Given the description of an element on the screen output the (x, y) to click on. 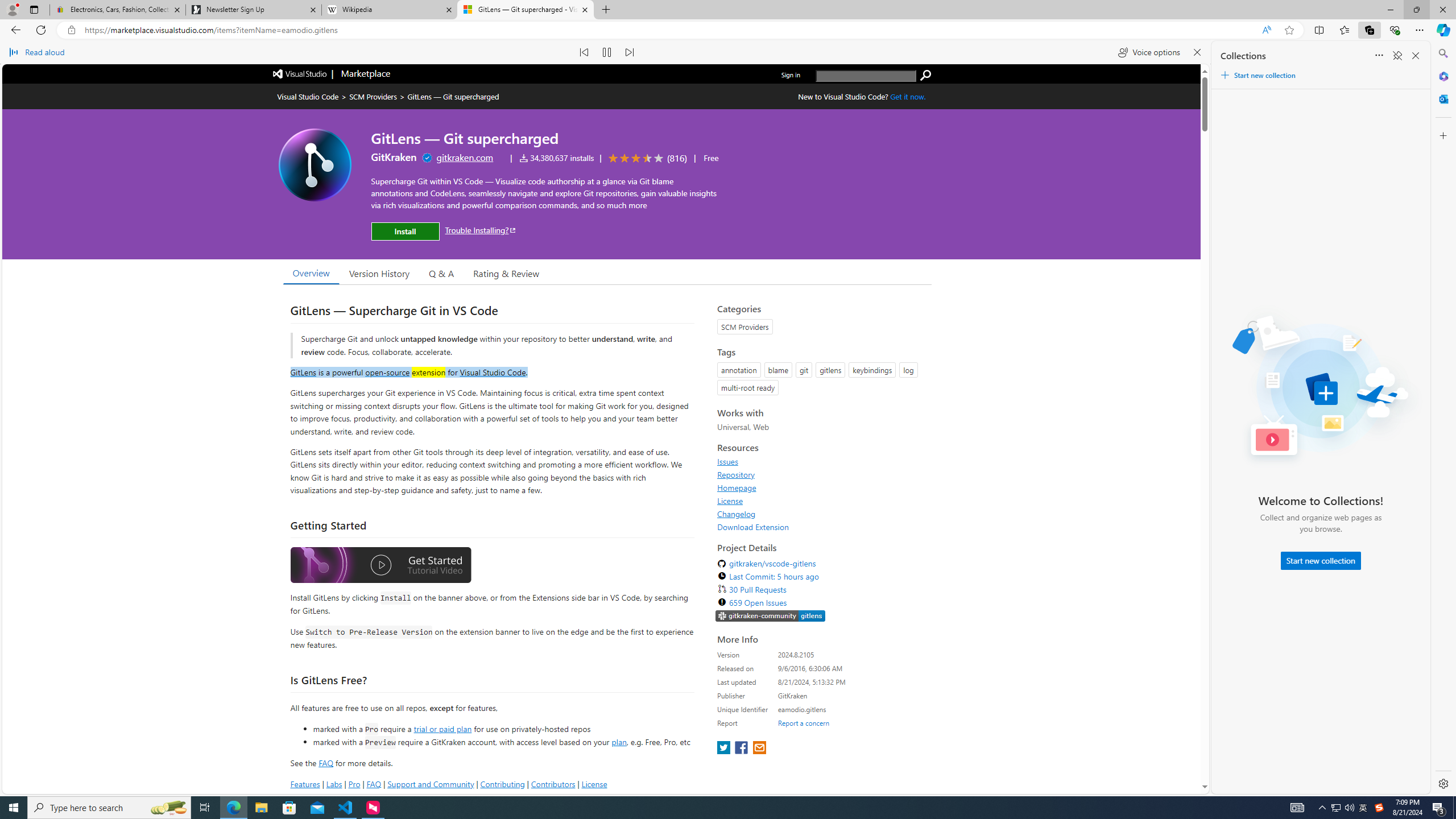
Watch the GitLens Getting Started video (380, 566)
Changelog (736, 513)
Contributing (502, 783)
gitkraken.com (464, 156)
Changelog (820, 513)
Pro (354, 783)
Issues (727, 461)
Download Extension (820, 526)
GitLens (303, 371)
